Given the description of an element on the screen output the (x, y) to click on. 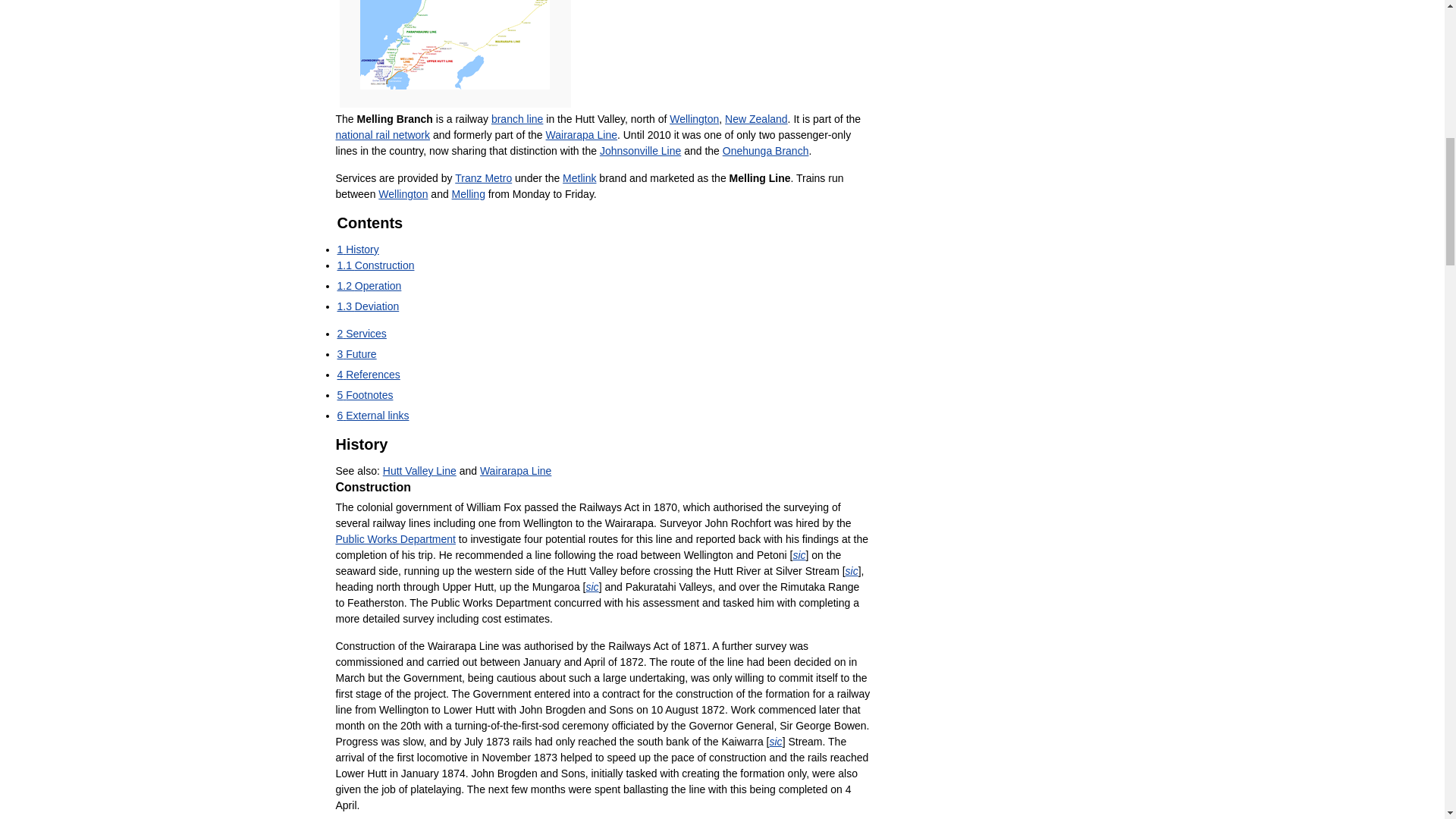
national rail network (381, 134)
branch line (517, 119)
New Zealand (756, 119)
Wellington (694, 119)
